Given the description of an element on the screen output the (x, y) to click on. 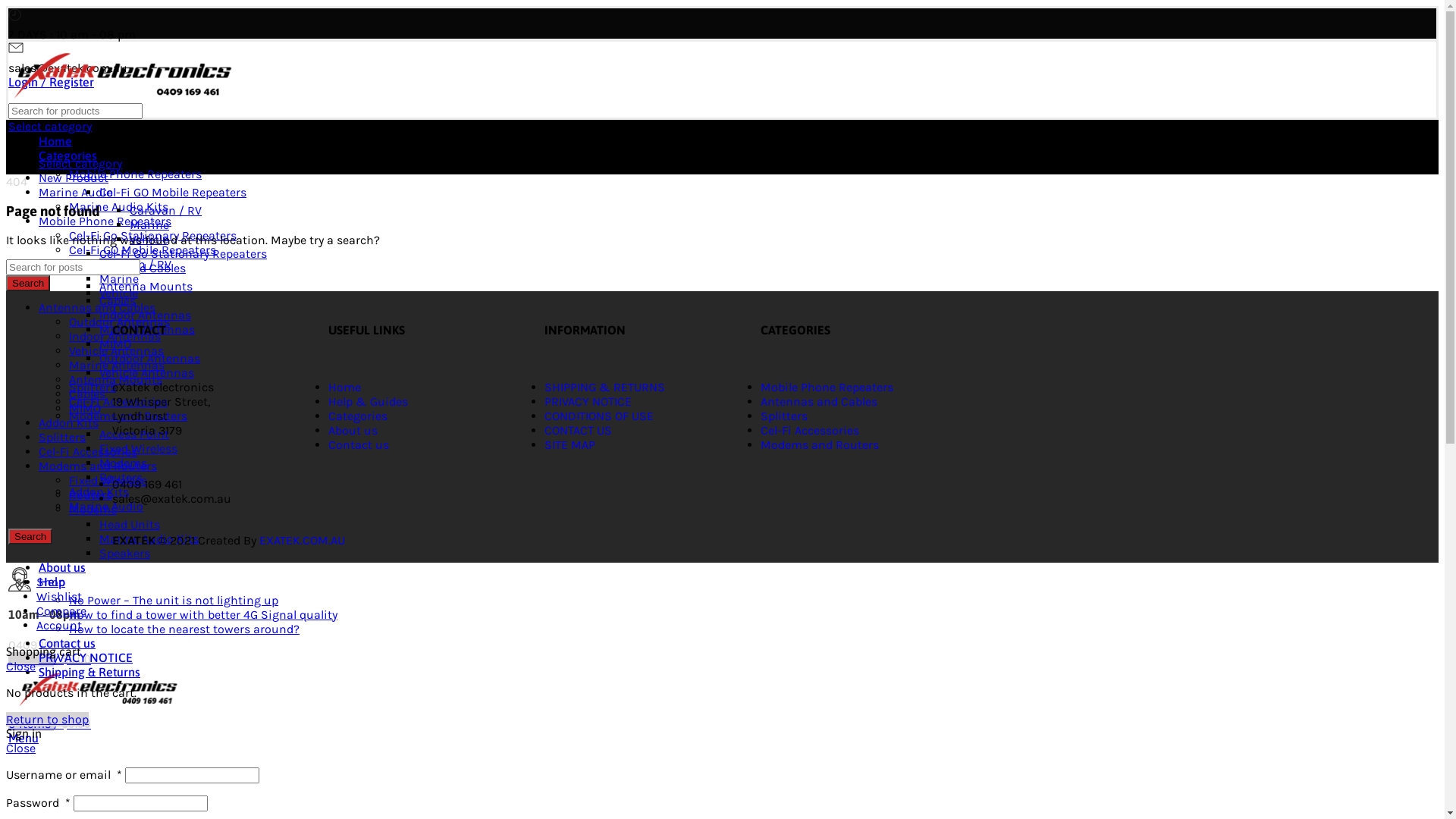
How to find a tower with better 4G Signal quality Element type: text (203, 614)
Marine Element type: text (118, 278)
Addon Kits Element type: text (98, 491)
Antennas and Cables Element type: text (96, 307)
Close Element type: text (20, 665)
MIMO Element type: text (84, 408)
Modems Element type: text (123, 462)
Cel-Fi Accessories Element type: text (118, 401)
7 DAYS : 10 am - 08 pm Element type: text (539, 24)
PRIVACY NOTICE Element type: text (587, 401)
Return to shop Element type: text (47, 719)
Cel-Fi GO Mobile Repeaters Element type: text (172, 192)
Vehicle Element type: text (118, 292)
CONDITIONS OF USE Element type: text (598, 415)
Home Element type: text (55, 140)
Marine Antennas Element type: text (116, 364)
Marine Audio Kits Element type: text (148, 538)
Antennas and Cables Element type: text (127, 267)
Modems and Routers Element type: text (97, 465)
Speakers Element type: text (124, 553)
Head Units Element type: text (129, 524)
Cel-Fi GO Mobile Repeaters Element type: text (142, 249)
Select category Element type: text (49, 126)
Modems and Routers Element type: text (819, 444)
10am - 08pm
0409 169 461 Element type: text (539, 609)
Marine Audio Kits Element type: text (118, 206)
Account Element type: text (58, 625)
New Product Element type: text (73, 177)
0 items / $0.00 Element type: text (49, 659)
MIMO Element type: text (115, 343)
Help & Guides Element type: text (367, 401)
Routers Element type: text (90, 494)
Modems and Routers Element type: text (128, 415)
Indoor Antennas Element type: text (114, 336)
Marine Audio Element type: text (106, 505)
Splitters Element type: text (92, 386)
Vehicle Antennas Element type: text (146, 372)
Wishlist Element type: text (58, 596)
Cel-Fi Accessories Element type: text (87, 451)
Mobile Phone Repeaters Element type: text (135, 173)
Help Element type: text (51, 581)
Outdoor Antennas Element type: text (149, 358)
SHIPPING & RETURNS Element type: text (604, 386)
Categories Element type: text (357, 415)
Mobile Phone Repeaters Element type: text (104, 220)
Shop Element type: text (50, 581)
Categories Element type: text (67, 155)
Routers Element type: text (120, 477)
Antennas and Cables Element type: text (818, 401)
0 items / $0.00 Element type: text (49, 723)
Contact us Element type: text (66, 642)
Cables Element type: text (117, 300)
Close Element type: text (20, 747)
Access Point Element type: text (134, 433)
Shipping & Returns Element type: text (89, 671)
Antenna Mounts Element type: text (115, 379)
Select category Element type: text (80, 163)
Vehicle Antennas Element type: text (116, 350)
Cables Element type: text (87, 393)
Search Element type: text (30, 536)
Marine Antennas Element type: text (146, 329)
Splitters Element type: text (783, 415)
How to locate the nearest towers around? Element type: text (184, 628)
Contact us Element type: text (358, 444)
SITE MAP Element type: text (569, 444)
Cel-Fi Go Stationary Repeaters Element type: text (182, 253)
Fixed Wireless Element type: text (108, 480)
Cel-Fi Go Stationary Repeaters Element type: text (152, 235)
Caravan / RV Element type: text (165, 210)
Antenna Mounts Element type: text (145, 286)
PRIVACY NOTICE Element type: text (85, 657)
Marine Element type: text (149, 224)
Search Element type: text (28, 283)
Fixed Wireless Element type: text (138, 448)
Vehicle Element type: text (148, 239)
Compare Element type: text (61, 610)
EXATEK.COM.AU Element type: text (302, 540)
Cel-Fi Accessories Element type: text (809, 430)
CONTACT US Element type: text (577, 430)
sales@exatek.com.au Element type: text (539, 58)
About us Element type: text (61, 567)
Menu Element type: text (23, 738)
Outdoor Antennas Element type: text (119, 321)
Modems Element type: text (92, 509)
About us Element type: text (352, 430)
Splitters Element type: text (61, 436)
Marine Audio Element type: text (75, 192)
Home Element type: text (344, 386)
Addon Kits Element type: text (68, 422)
Indoor Antennas Element type: text (145, 314)
Caravan / RV Element type: text (135, 264)
Mobile Phone Repeaters Element type: text (826, 386)
Login / Register Element type: text (51, 82)
